Given the description of an element on the screen output the (x, y) to click on. 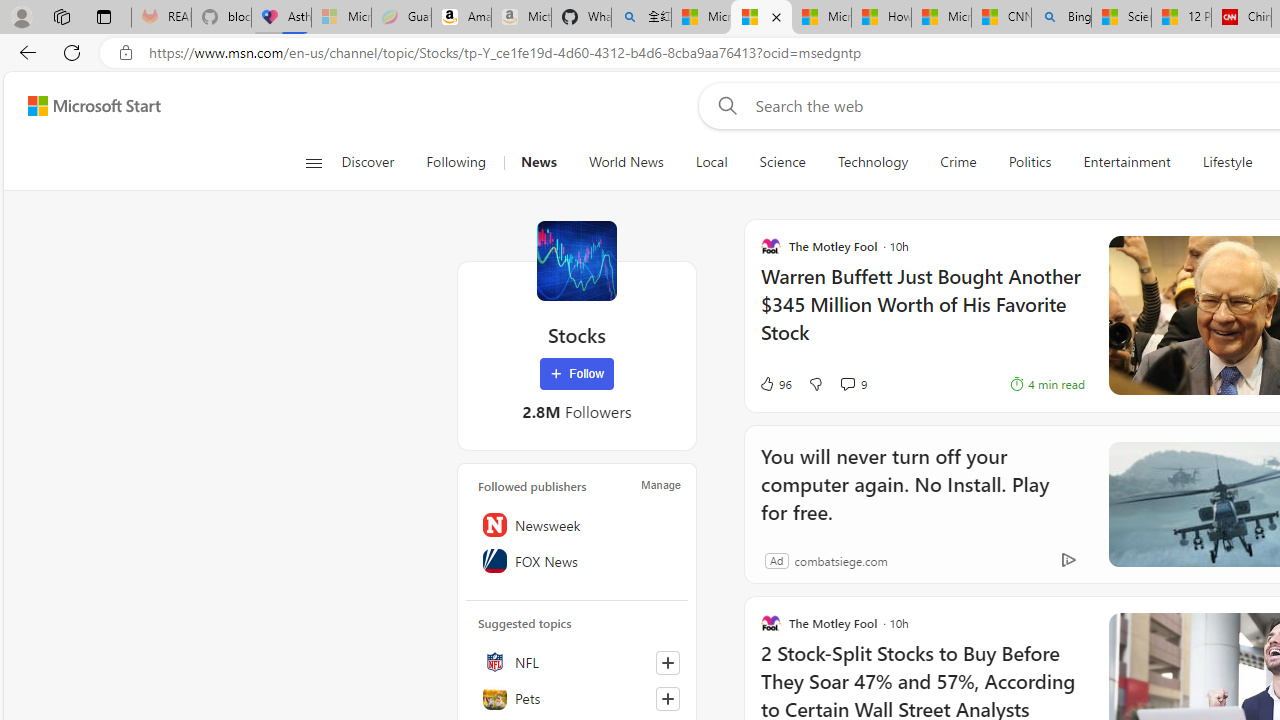
Newsweek (577, 525)
CNN - MSN (1000, 17)
FOX News (577, 561)
Manage (660, 484)
Bing (1060, 17)
